Given the description of an element on the screen output the (x, y) to click on. 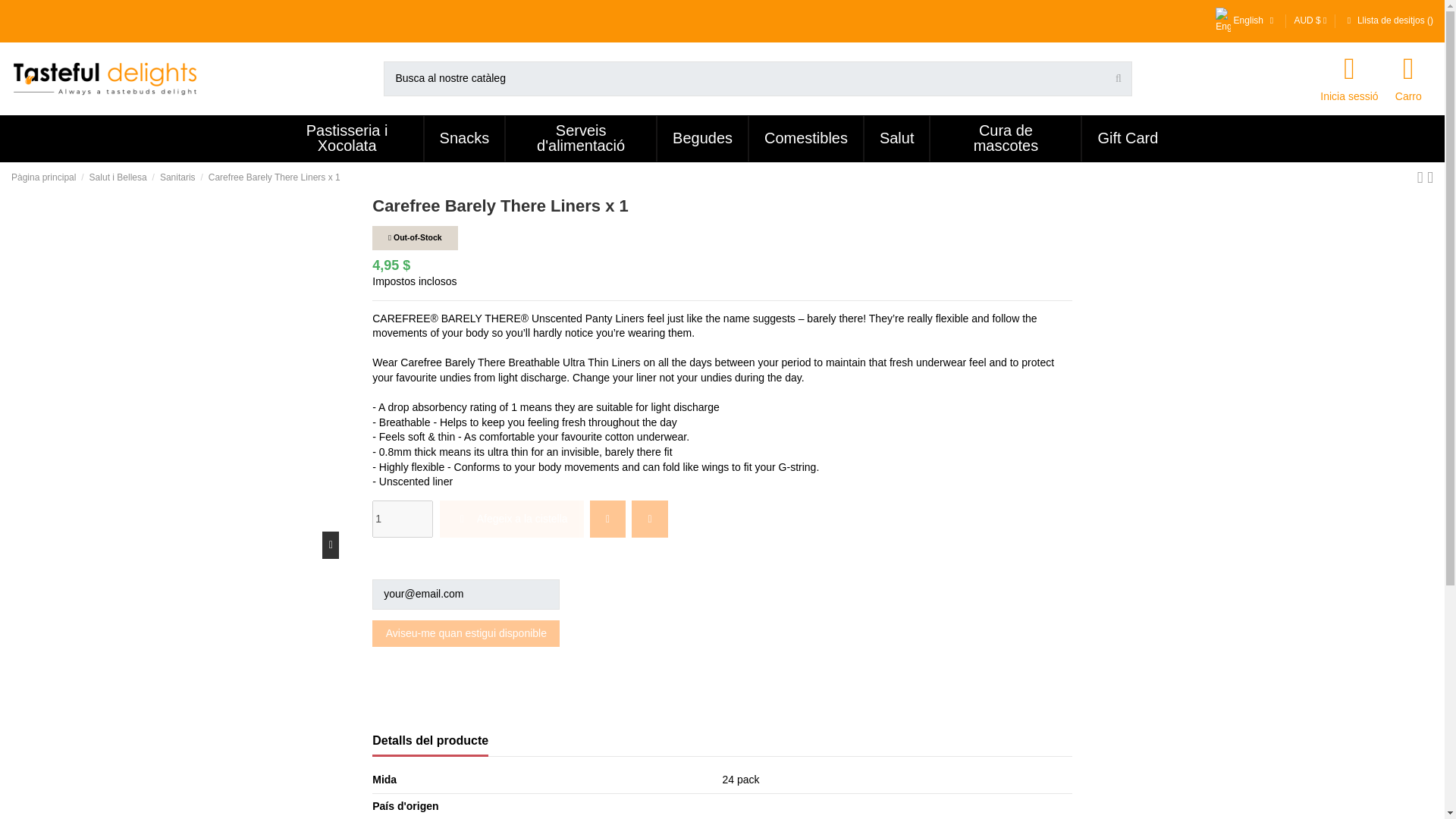
1 (402, 518)
Aviseu-me quan estigui disponible (465, 633)
English (1245, 20)
Pastisseria i Xocolata (346, 138)
